Given the description of an element on the screen output the (x, y) to click on. 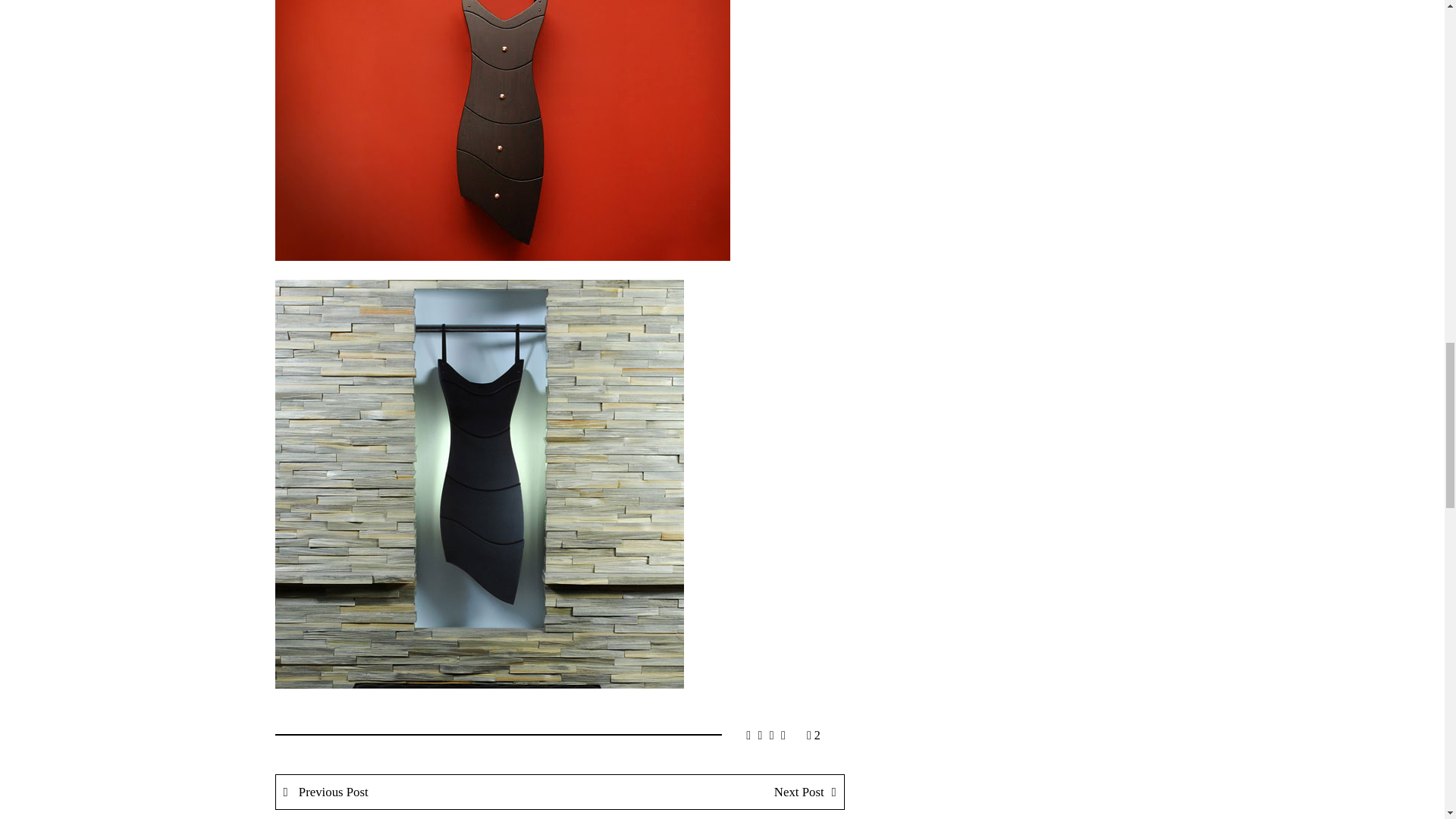
2 (813, 735)
DRESSER DRESS IN BLACK (502, 130)
Next Post (701, 791)
Previous Post (418, 791)
